Given the description of an element on the screen output the (x, y) to click on. 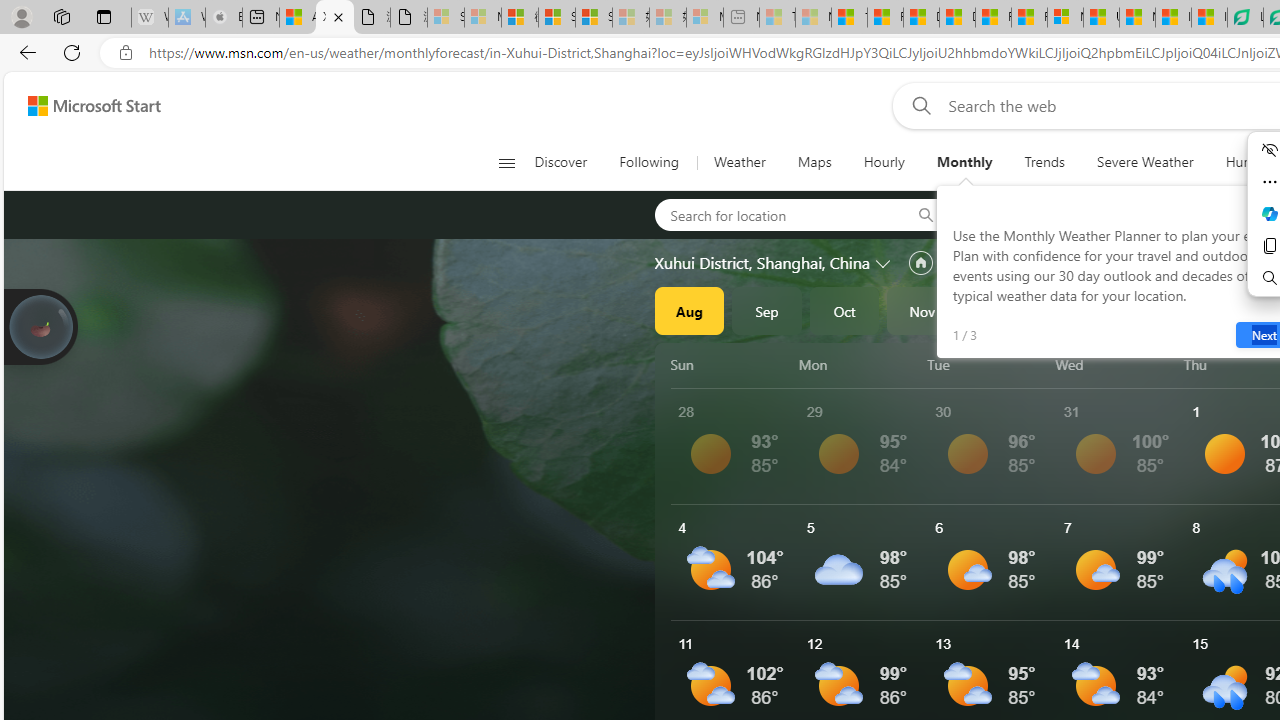
Nov (922, 310)
Trends (1044, 162)
Trends (1044, 162)
See More Details (1120, 561)
Change location (884, 262)
Web search (917, 105)
Aug (689, 310)
Foo BAR | Trusted Community Engagement and Contributions (1029, 17)
Weather (738, 162)
